Given the description of an element on the screen output the (x, y) to click on. 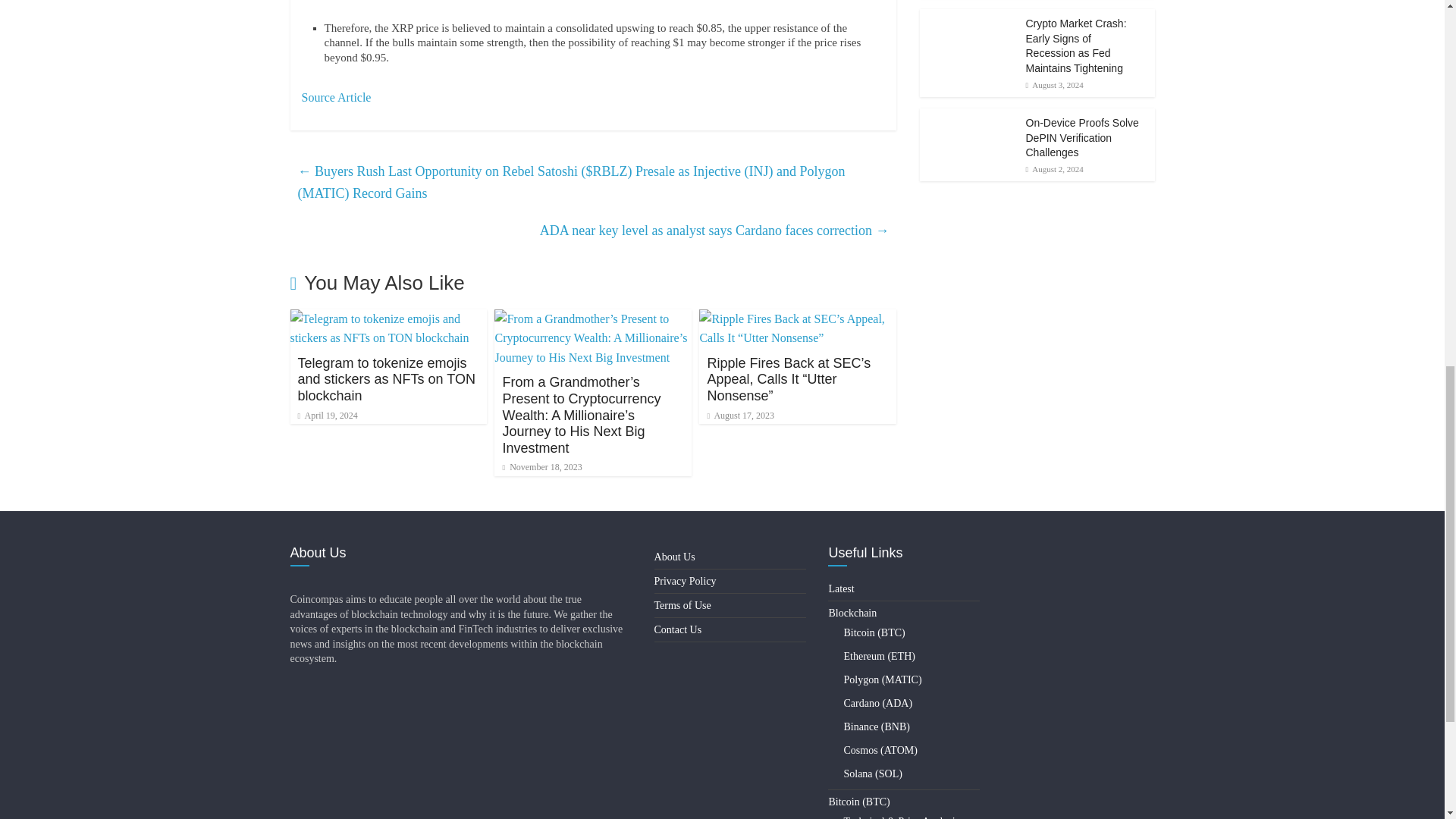
4:17 pm (326, 415)
